Given the description of an element on the screen output the (x, y) to click on. 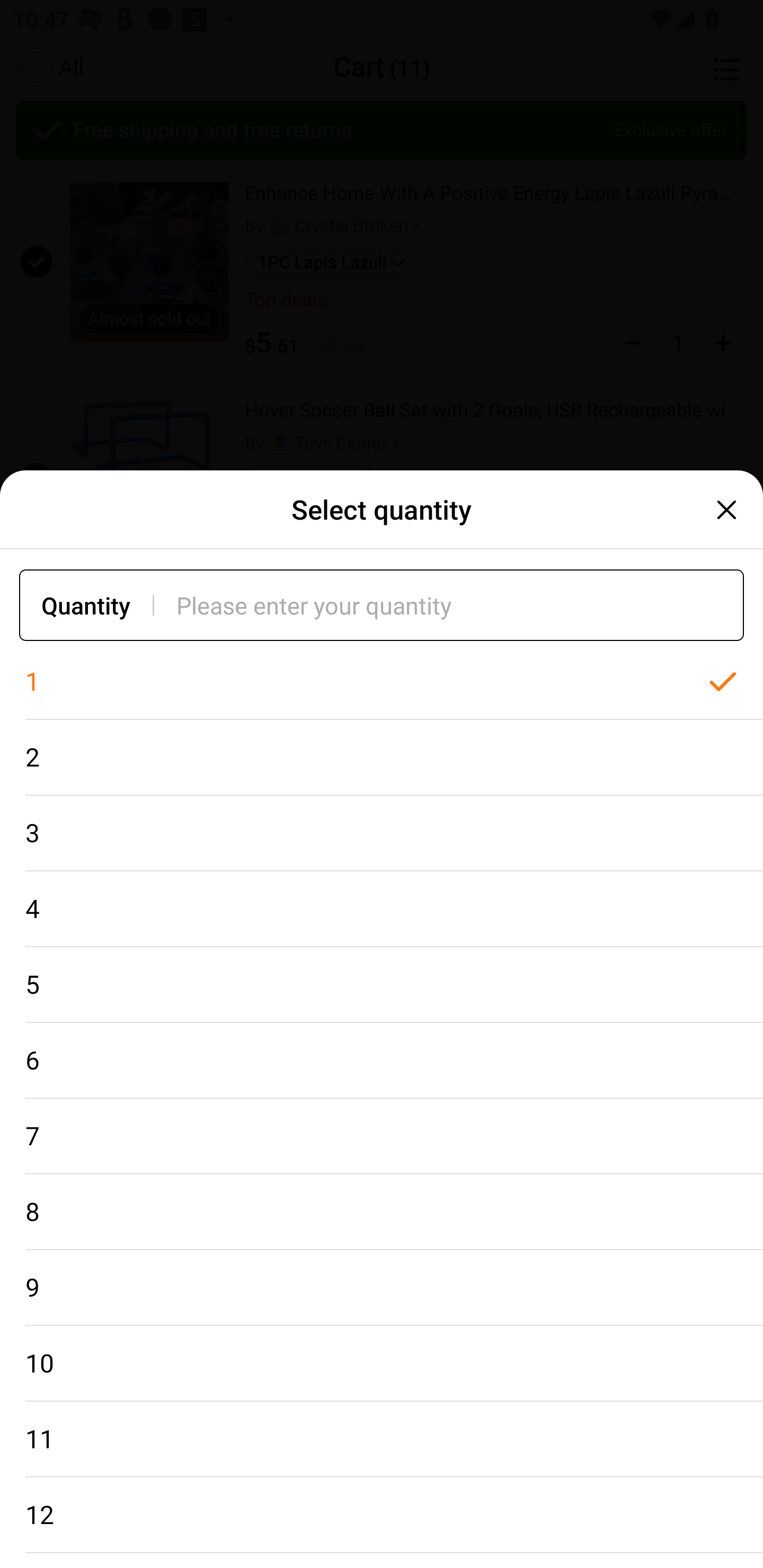
Please enter your quantity (459, 605)
1 (381, 681)
2 (381, 756)
3 (381, 832)
4 (381, 909)
5 (381, 984)
6 (381, 1060)
7 (381, 1136)
8 (381, 1211)
9 (381, 1287)
10 (381, 1363)
11 (381, 1439)
12 (381, 1515)
